Given the description of an element on the screen output the (x, y) to click on. 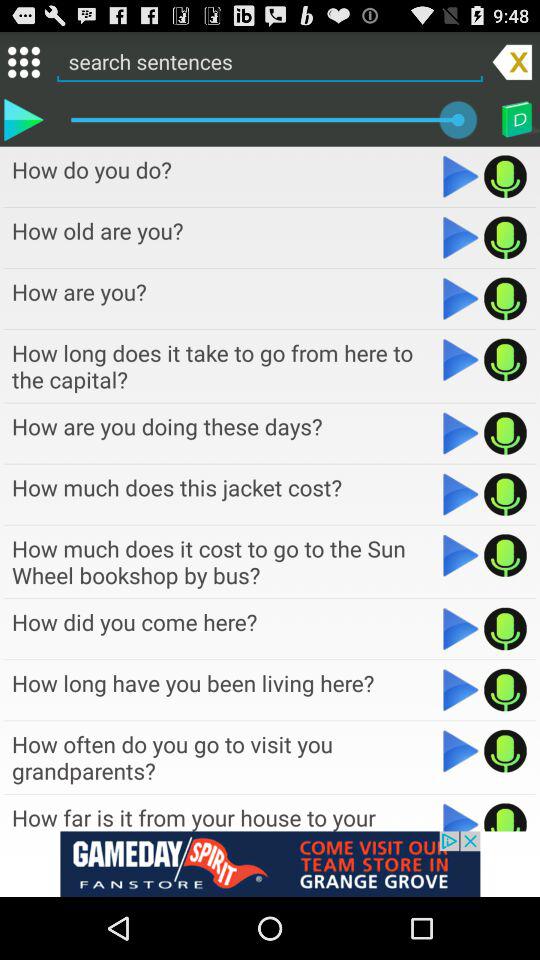
delete text (512, 61)
